Given the description of an element on the screen output the (x, y) to click on. 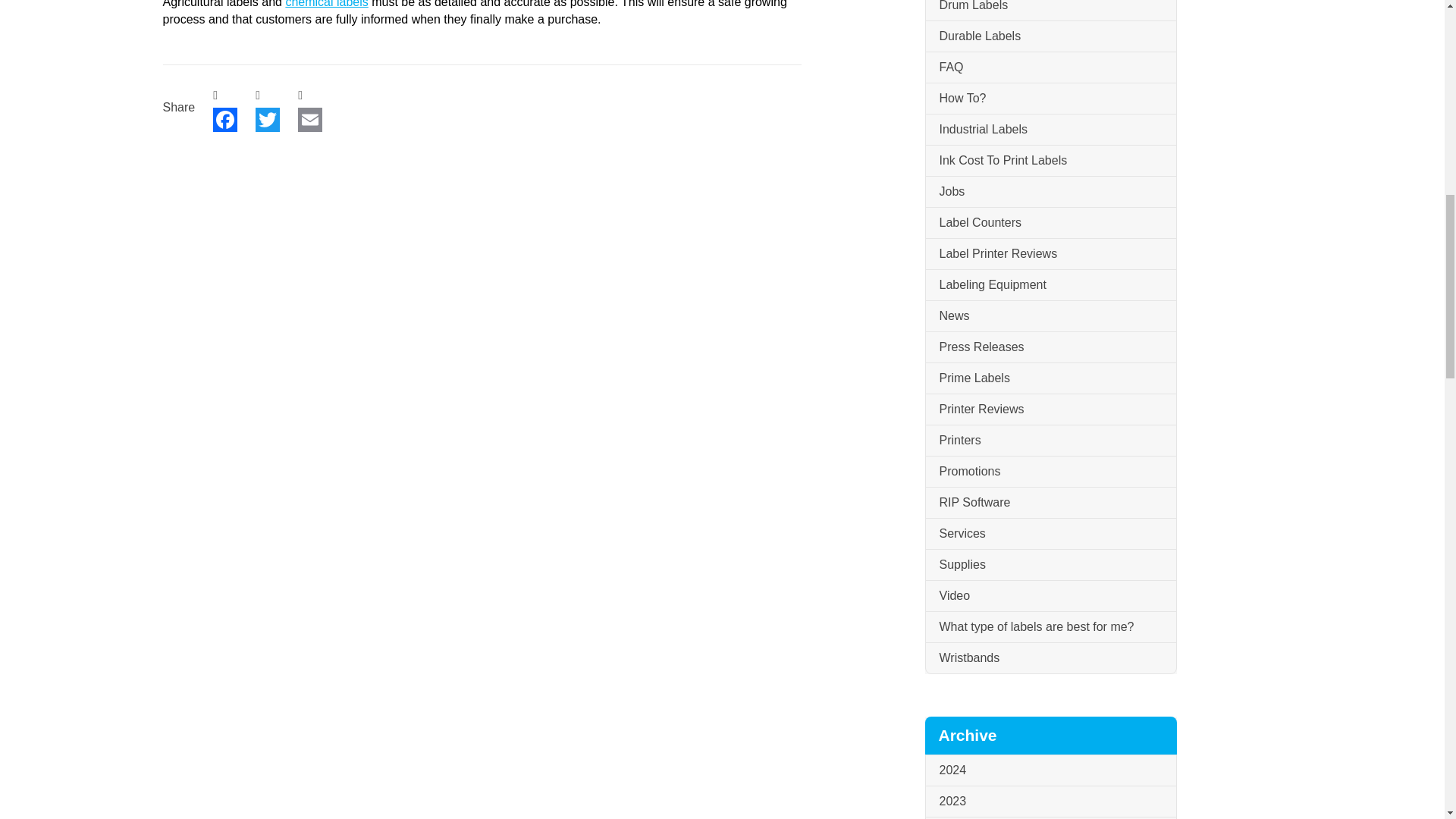
Industrial Labels (1049, 129)
News (1049, 316)
Label Counters (1049, 223)
FAQ (1049, 67)
How To? (1049, 98)
Printer Reviews (1049, 409)
Prime Labels (1049, 378)
chemical labels (326, 4)
Drum Labels (1049, 10)
Press Releases (1049, 347)
Label Printer Reviews (1049, 254)
Durable Labels (1049, 36)
Labeling Equipment (1049, 285)
Jobs (1049, 192)
Ink Cost To Print Labels (1049, 160)
